Given the description of an element on the screen output the (x, y) to click on. 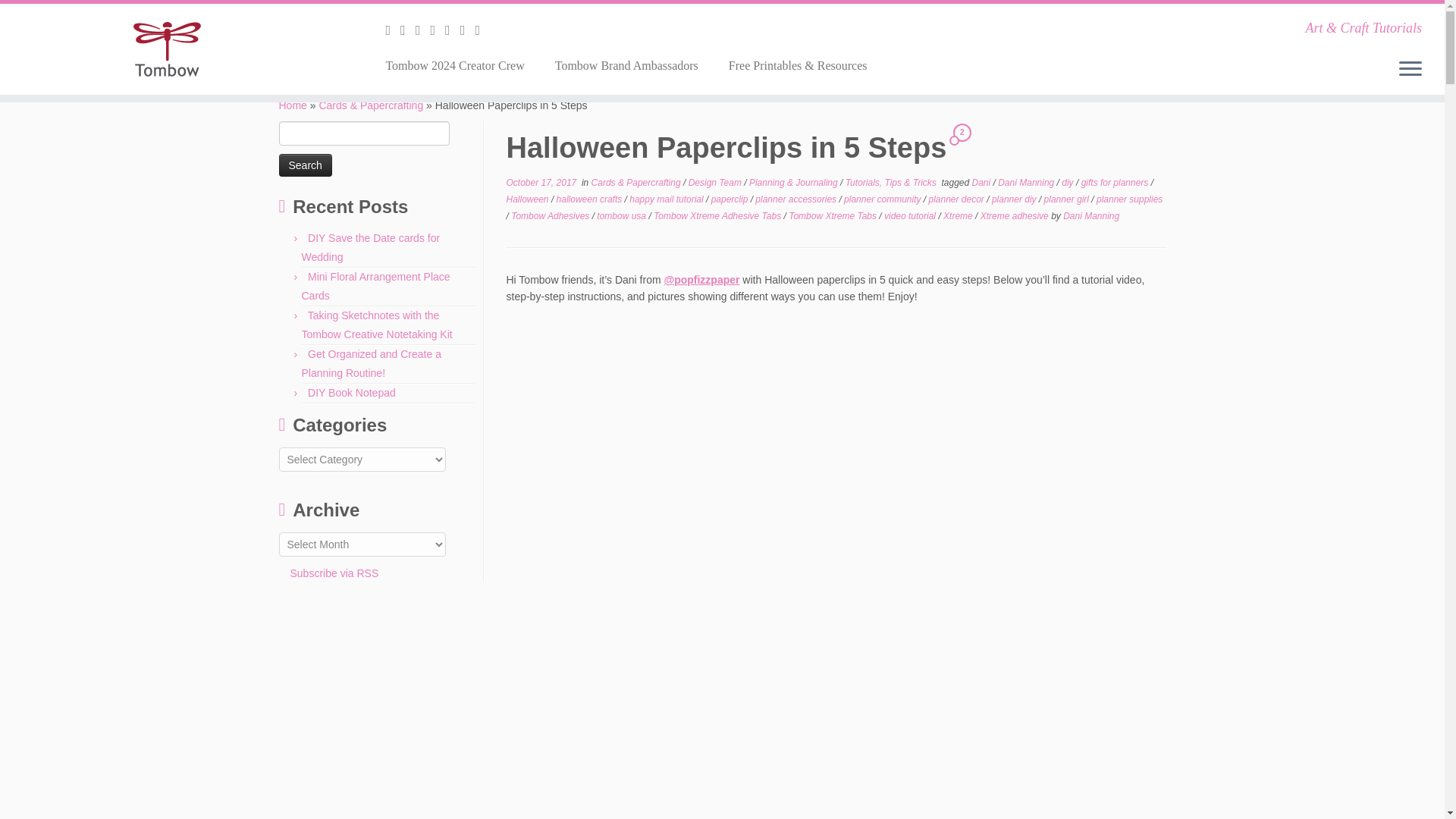
Mini Floral Arrangement Place Cards (375, 286)
Tombow Brand Ambassadors (626, 65)
DIY Save the Date cards for Wedding (371, 246)
gifts for planners (1116, 182)
Home (293, 105)
Dani (982, 182)
Search (305, 164)
Tombow USA Blog (293, 105)
October 17, 2017 (541, 182)
Follow me on Instagram (437, 29)
